Given the description of an element on the screen output the (x, y) to click on. 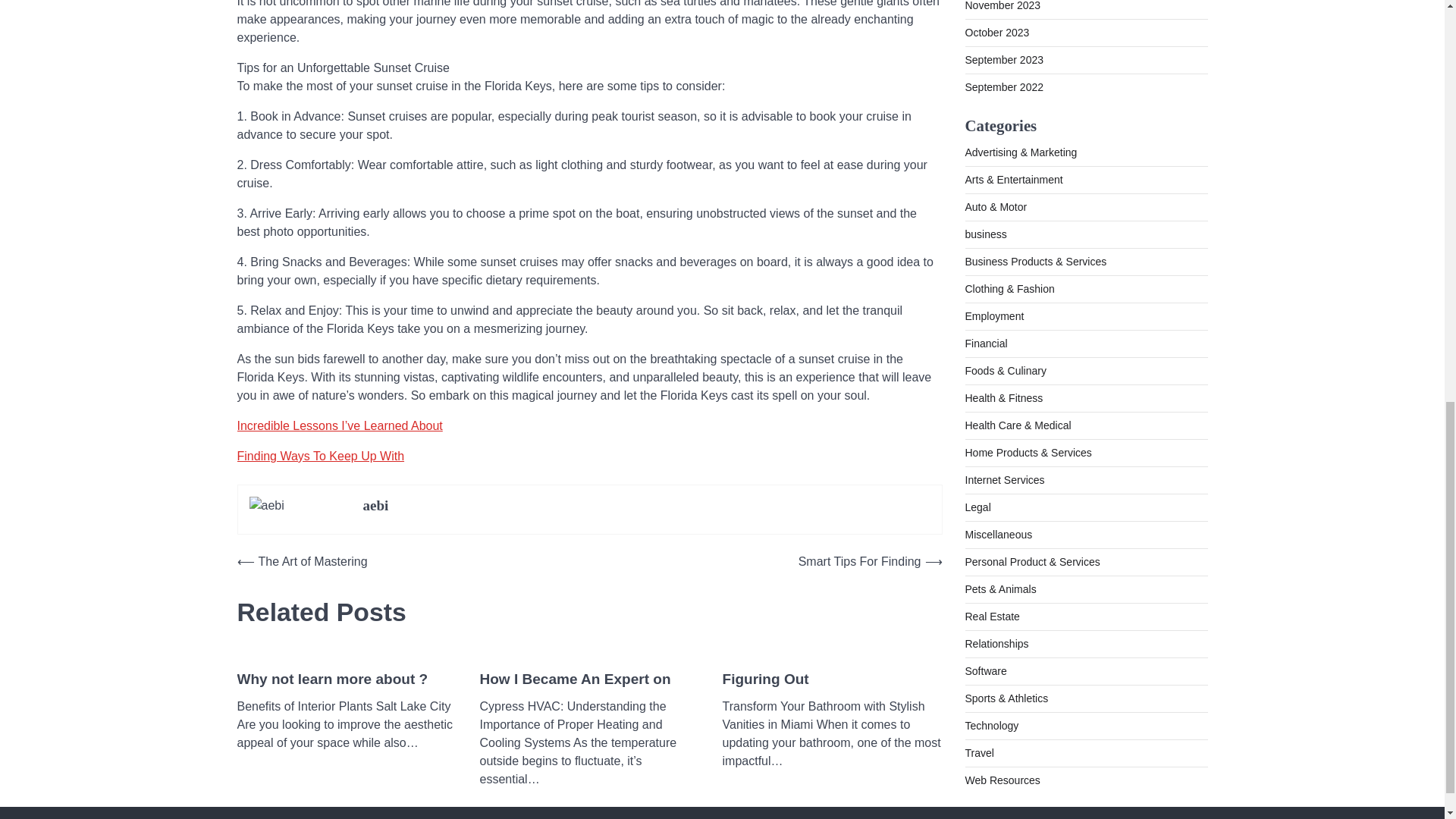
September 2022 (1003, 24)
Finding Ways To Keep Up With (319, 455)
How I Became An Expert on (574, 680)
Why not learn more about ? (331, 680)
Figuring Out (765, 680)
September 2023 (1003, 2)
business (984, 172)
